Given the description of an element on the screen output the (x, y) to click on. 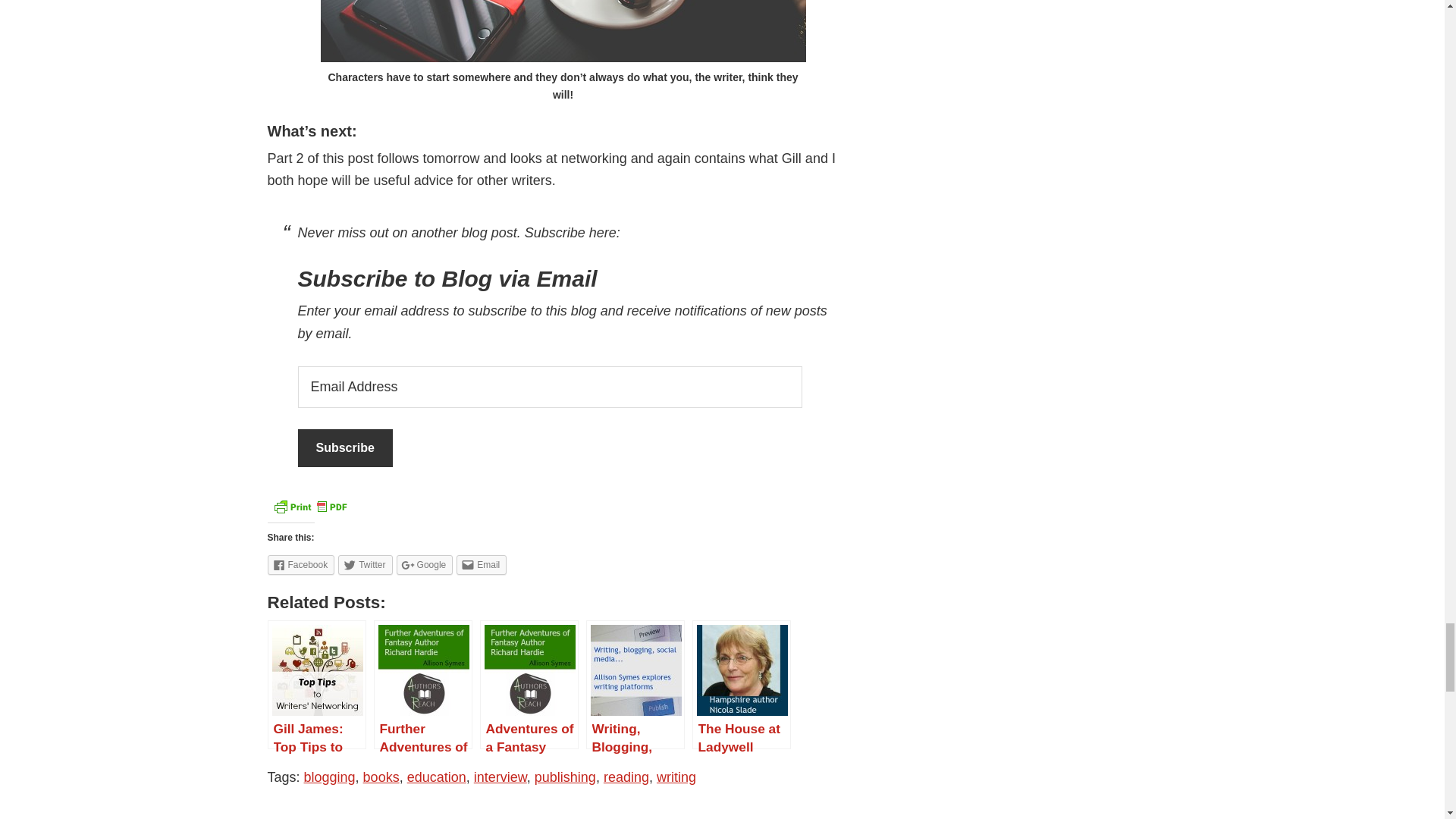
Subscribe (344, 447)
